Given the description of an element on the screen output the (x, y) to click on. 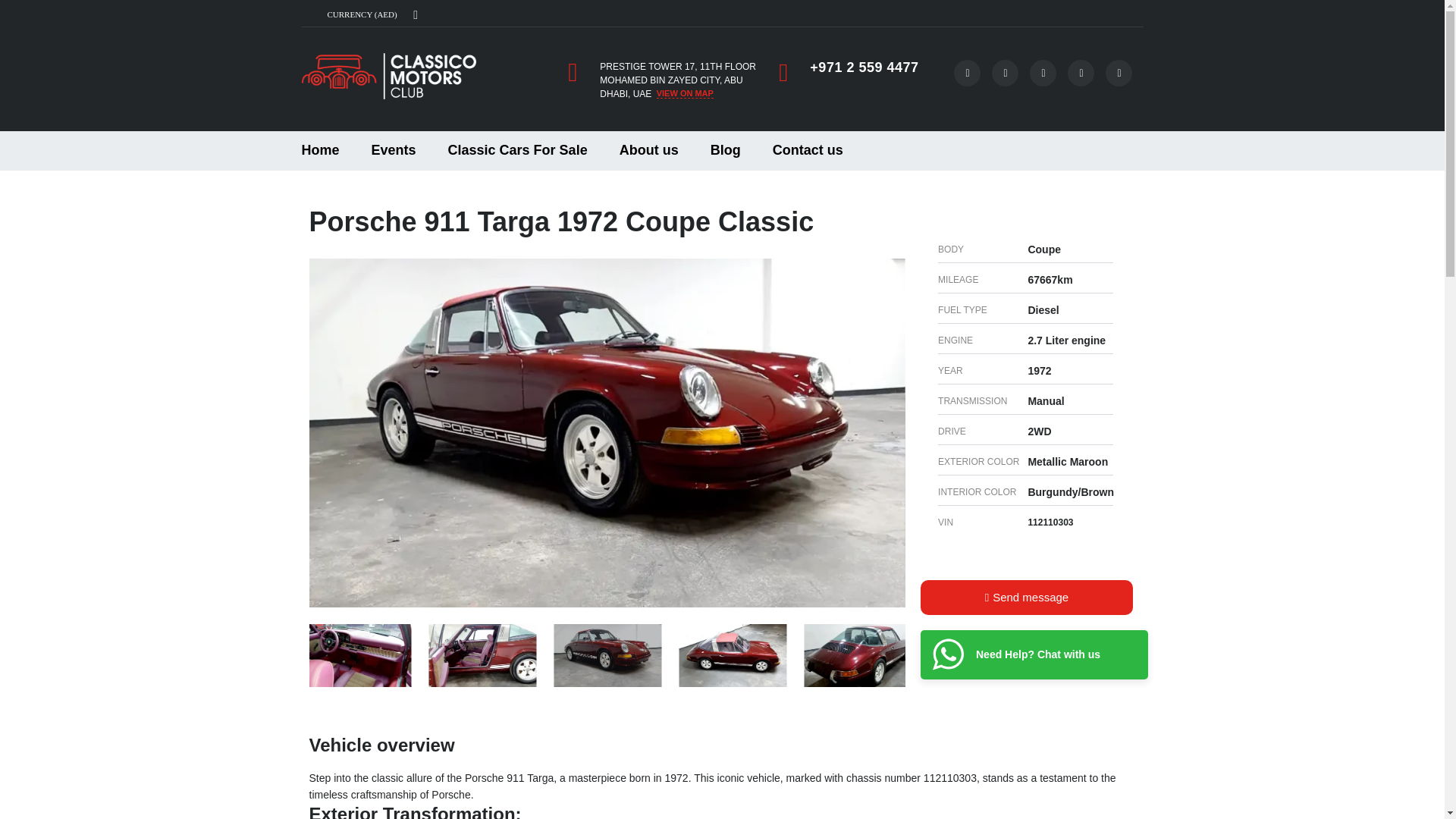
Blog (725, 150)
Contact us (808, 150)
Home (320, 150)
Classic Cars For Sale (518, 150)
About us (649, 150)
Events (393, 150)
Home (388, 75)
